Given the description of an element on the screen output the (x, y) to click on. 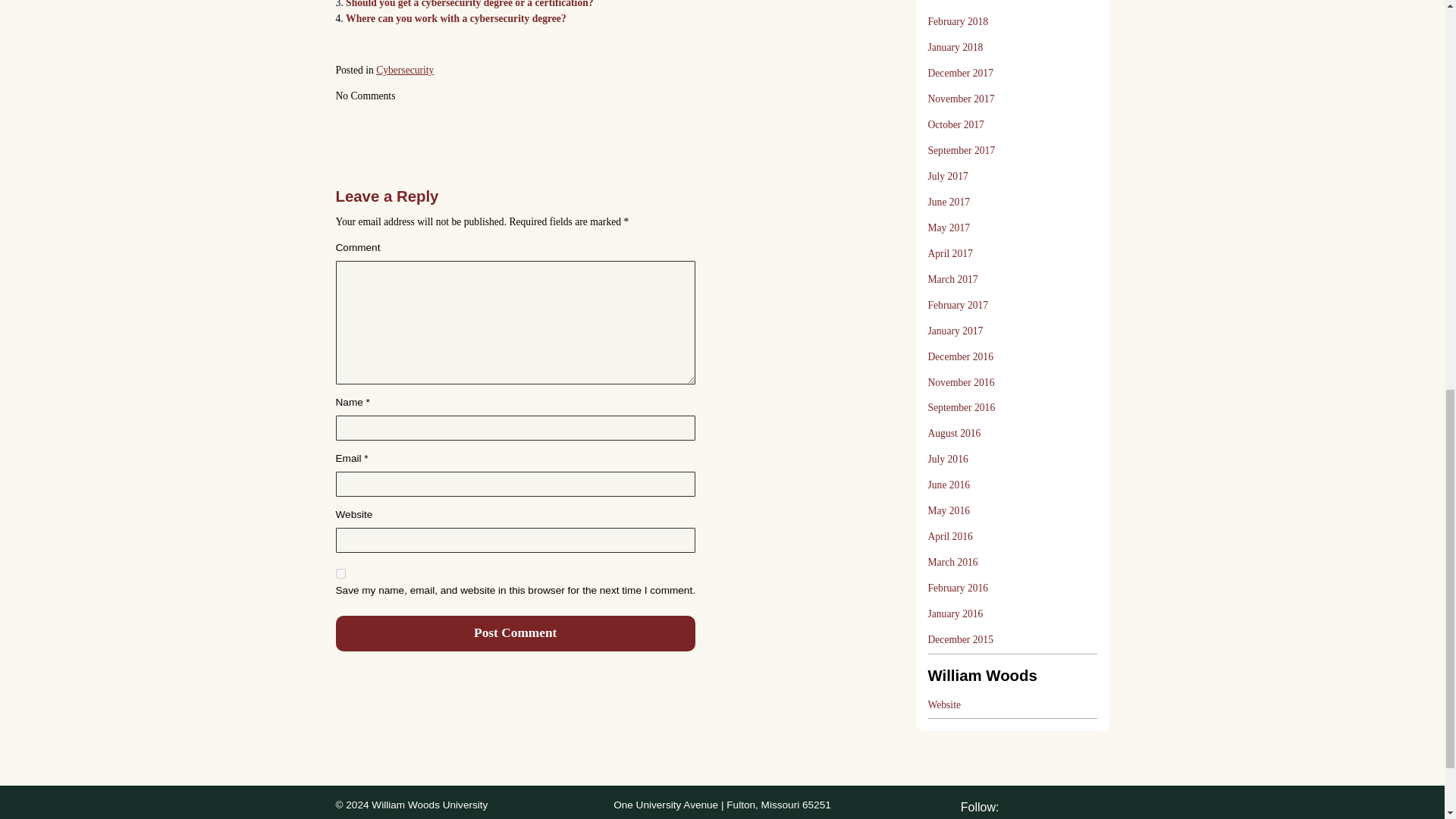
March 2018 (953, 4)
yes (339, 573)
Post Comment (514, 633)
December 2017 (960, 73)
November 2017 (961, 99)
October 2017 (956, 125)
Post Comment (514, 633)
February 2018 (958, 22)
September 2017 (961, 150)
Should you get a cybersecurity degree or a certification? (469, 4)
